Given the description of an element on the screen output the (x, y) to click on. 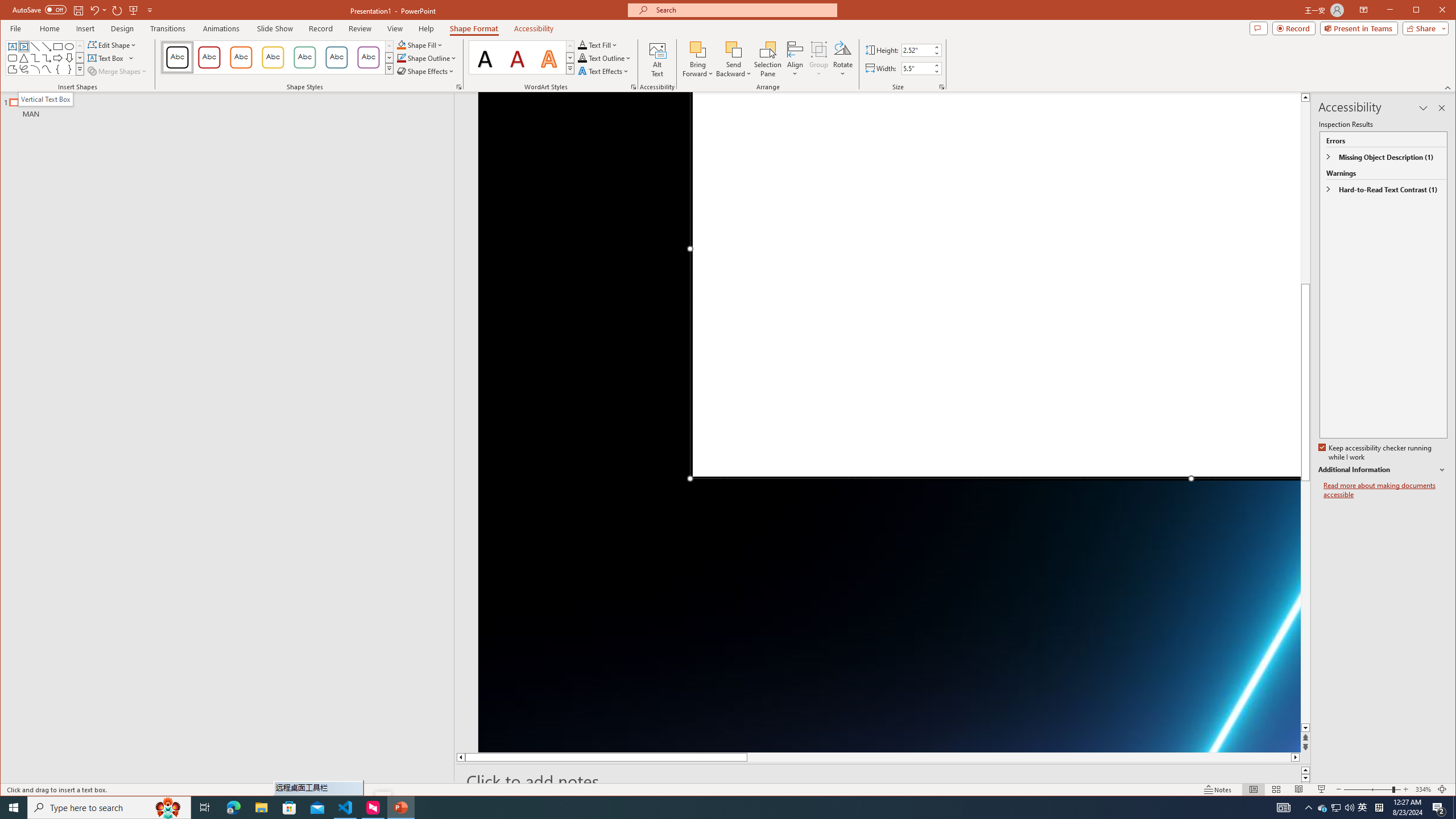
Text Effects (603, 70)
Draw Horizontal Text Box (106, 57)
